Given the description of an element on the screen output the (x, y) to click on. 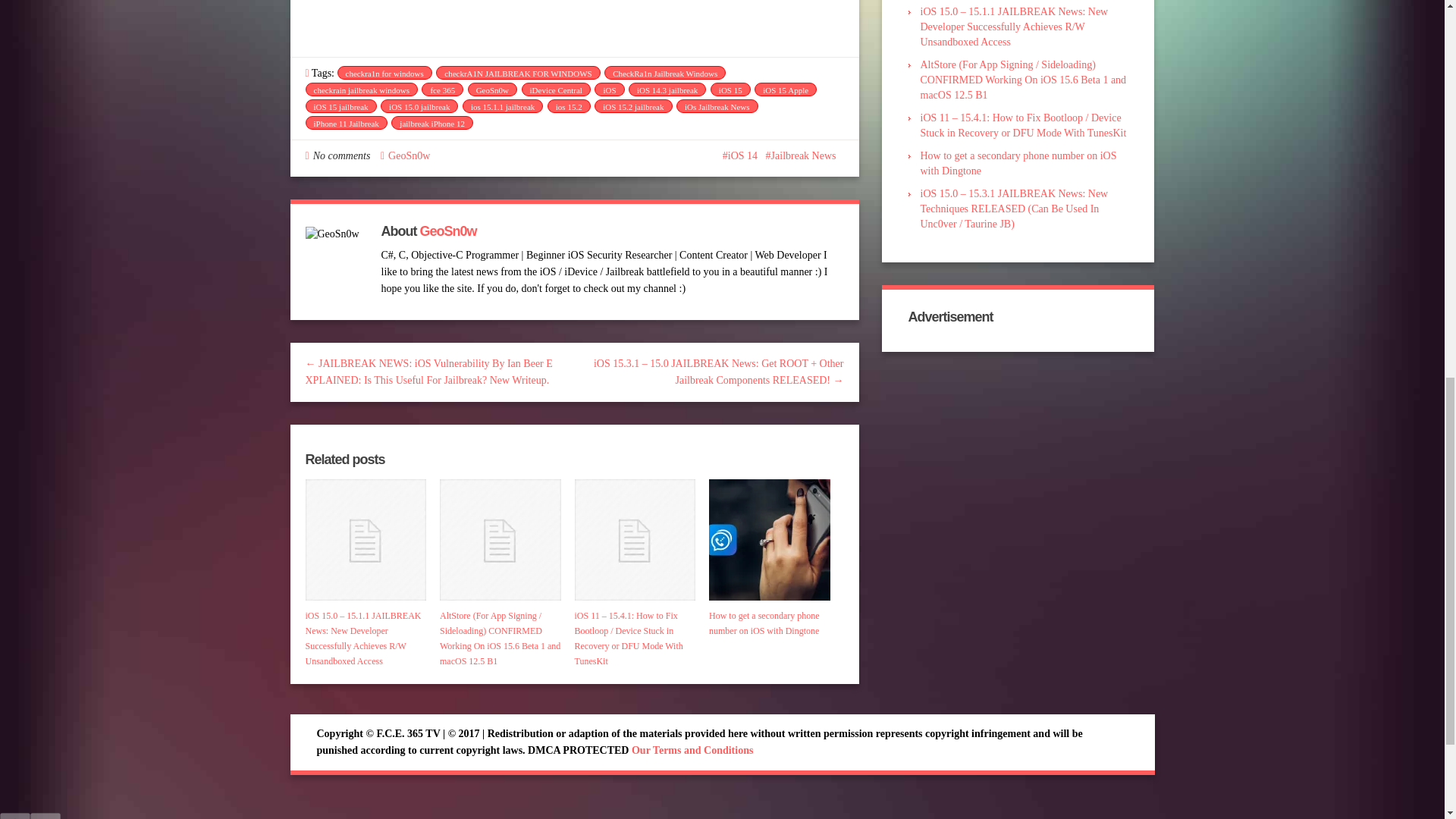
iOS 14.3 jailbreak (667, 89)
CheckRa1n Jailbreak Windows (664, 72)
iOS 15.0 jailbreak (419, 106)
checkra1n for windows (383, 72)
iOS 14 (739, 155)
GeoSn0w (408, 155)
Posts by GeoSn0w (408, 155)
No comments (342, 155)
GeoSn0w (491, 89)
iOs Jailbreak News (717, 106)
How to get a secondary phone number on iOS with Dingtone (769, 539)
ios 15.1.1 jailbreak (503, 106)
iOS 15 (730, 89)
checkrain jailbreak windows (360, 89)
iPhone 11 Jailbreak (345, 122)
